Given the description of an element on the screen output the (x, y) to click on. 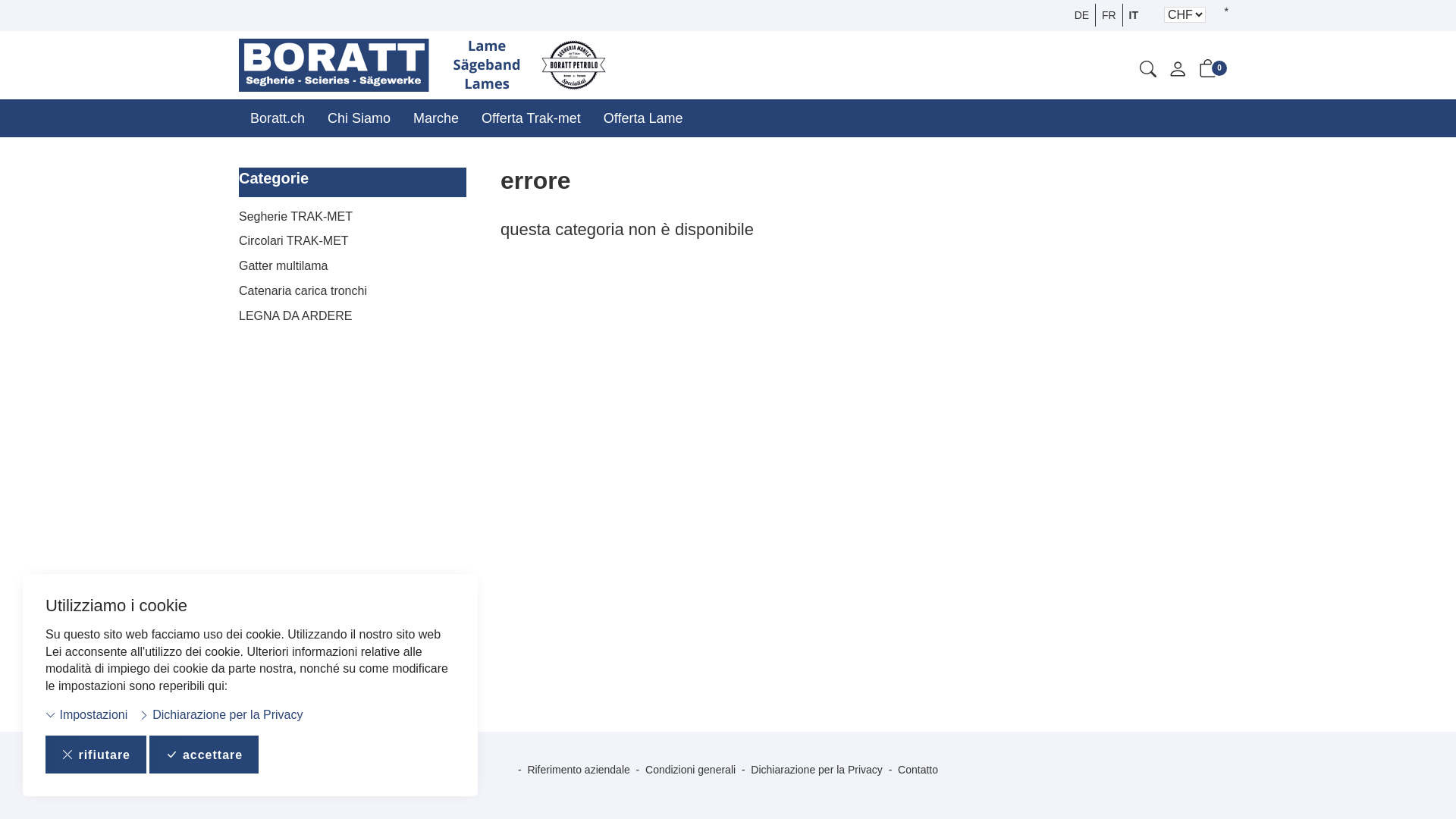
Contatto Element type: text (917, 769)
Dichiarazione per la Privacy Element type: text (816, 769)
Offerta Trak-met Element type: text (531, 118)
IT Element type: text (1131, 14)
rifiutare Element type: text (95, 754)
FR Element type: text (1107, 14)
accettare Element type: text (203, 754)
Marche Element type: text (435, 118)
DE Element type: text (1083, 14)
Chi Siamo Element type: text (358, 118)
Impostazioni Element type: text (86, 715)
Gatter multilama Element type: text (352, 266)
Dichiarazione per la Privacy Element type: text (220, 715)
Riferimento aziendale Element type: text (578, 769)
Boratt.ch Element type: text (277, 118)
LEGNA DA ARDERE Element type: text (352, 316)
Ricerca Element type: hover (1147, 71)
il mio conto Element type: hover (1177, 72)
Segherie TRAK-MET Element type: text (352, 216)
Circolari TRAK-MET Element type: text (352, 241)
0 Element type: text (1207, 71)
Condizioni generali Element type: text (690, 769)
* Element type: text (1226, 11)
Offerta Lame Element type: text (643, 118)
Catenaria carica tronchi Element type: text (352, 291)
